Given the description of an element on the screen output the (x, y) to click on. 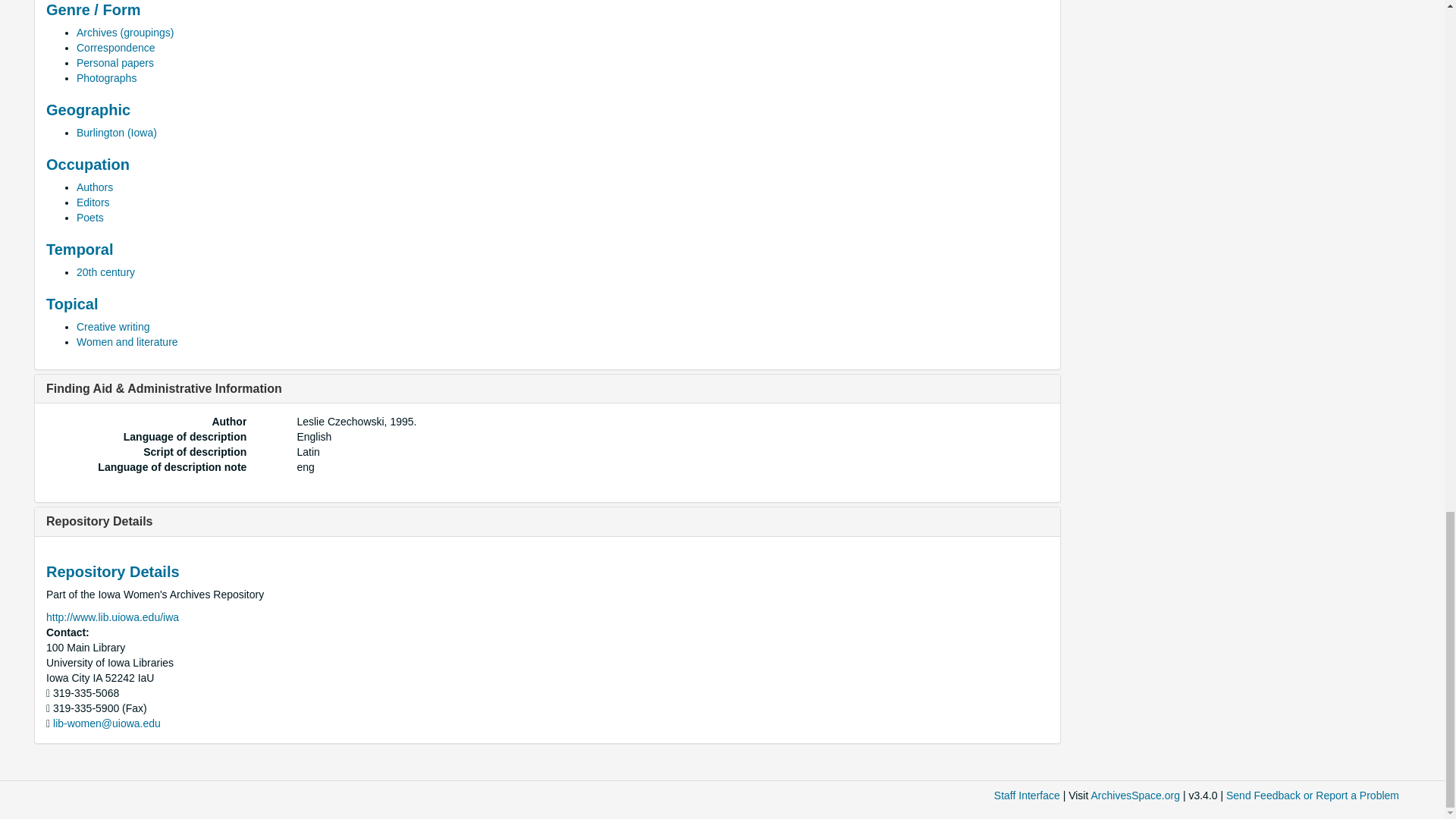
Personal papers (115, 62)
Women and literature (127, 341)
Authors (95, 186)
20th century (106, 272)
Photographs (106, 78)
Correspondence (116, 47)
Creative writing (113, 326)
Send email (106, 723)
Poets (90, 217)
Editors (93, 202)
